Given the description of an element on the screen output the (x, y) to click on. 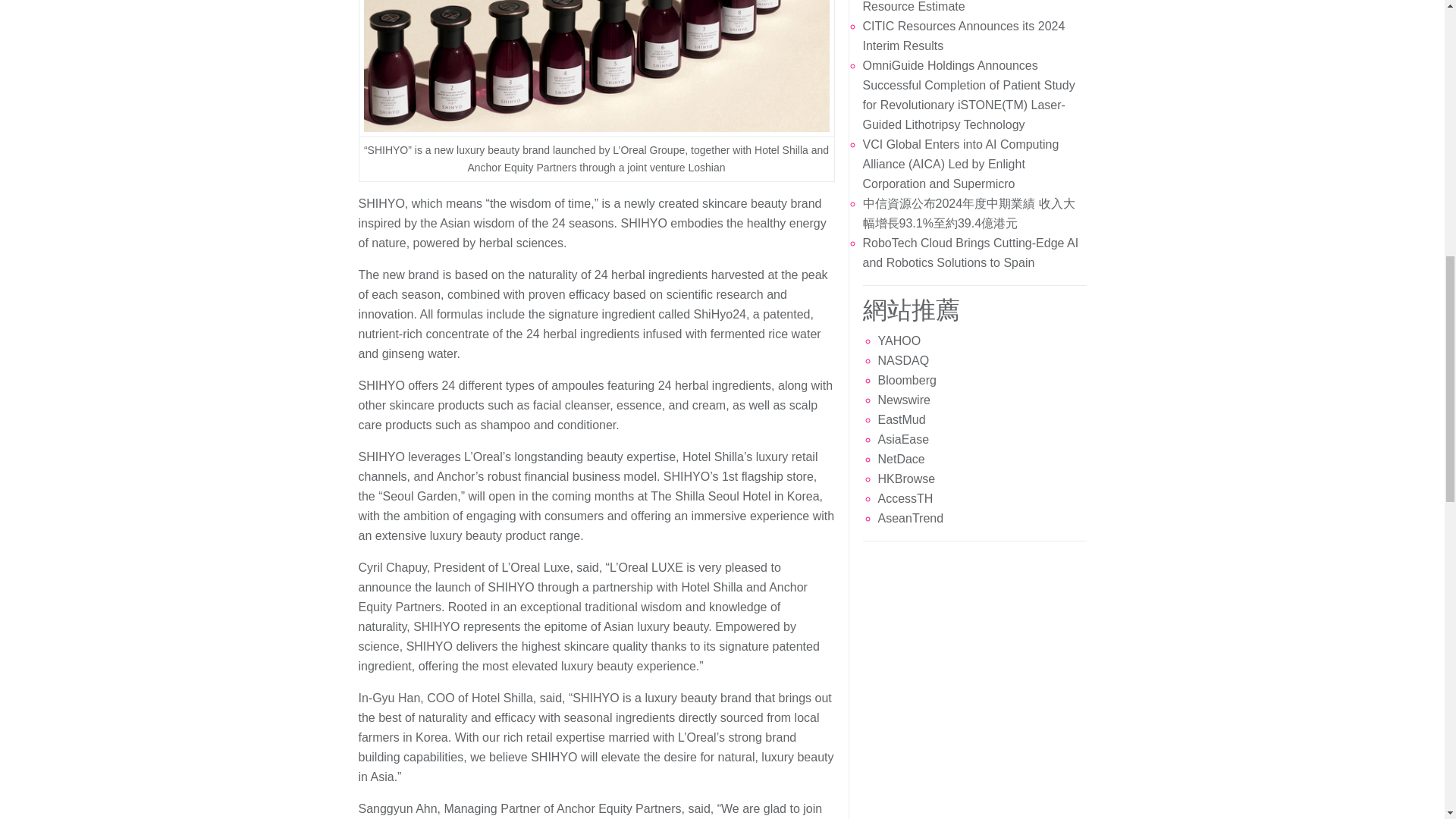
CITIC Resources Announces its 2024 Interim Results (964, 35)
YAHOO (899, 340)
